Given the description of an element on the screen output the (x, y) to click on. 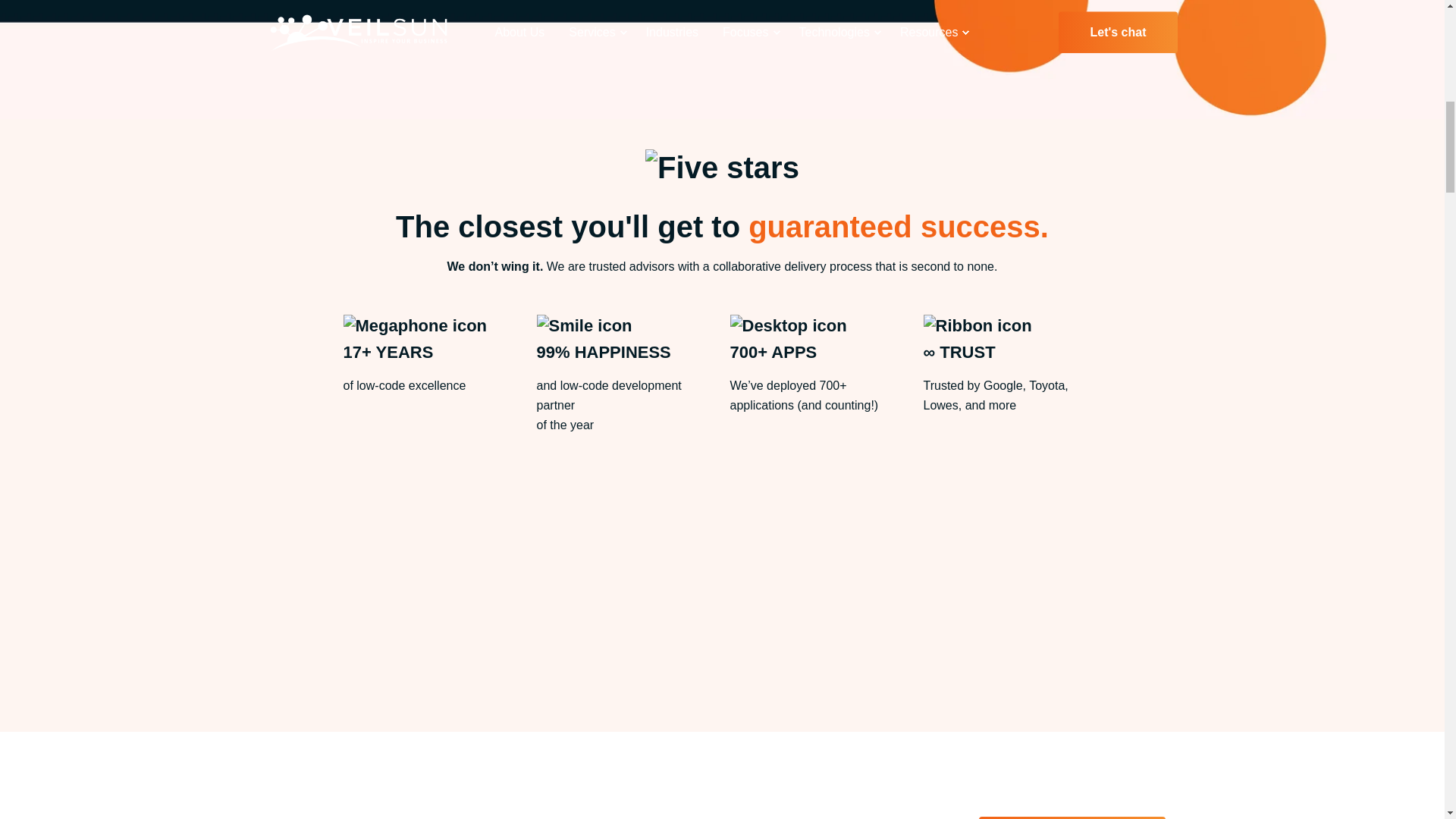
Button Book a discovery call (1072, 817)
